Given the description of an element on the screen output the (x, y) to click on. 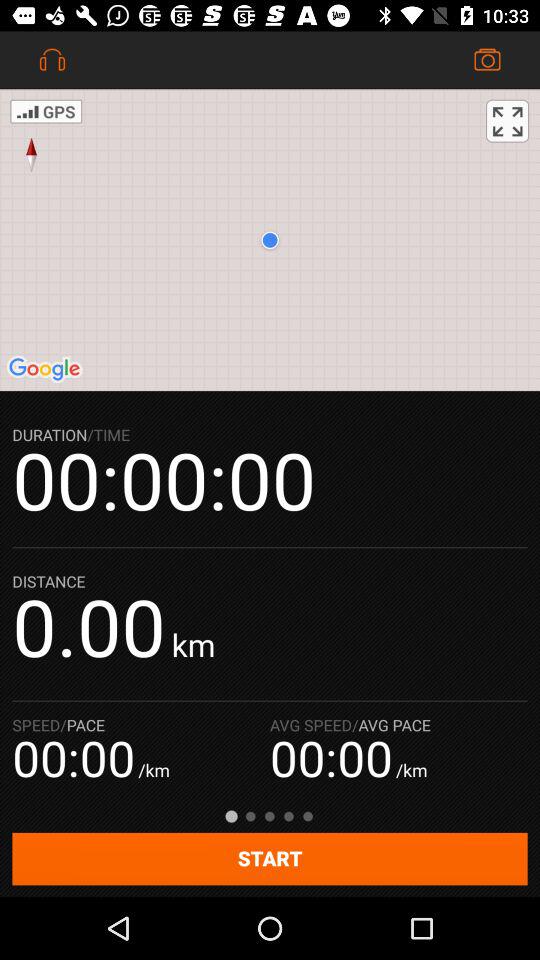
open start item (269, 858)
